Given the description of an element on the screen output the (x, y) to click on. 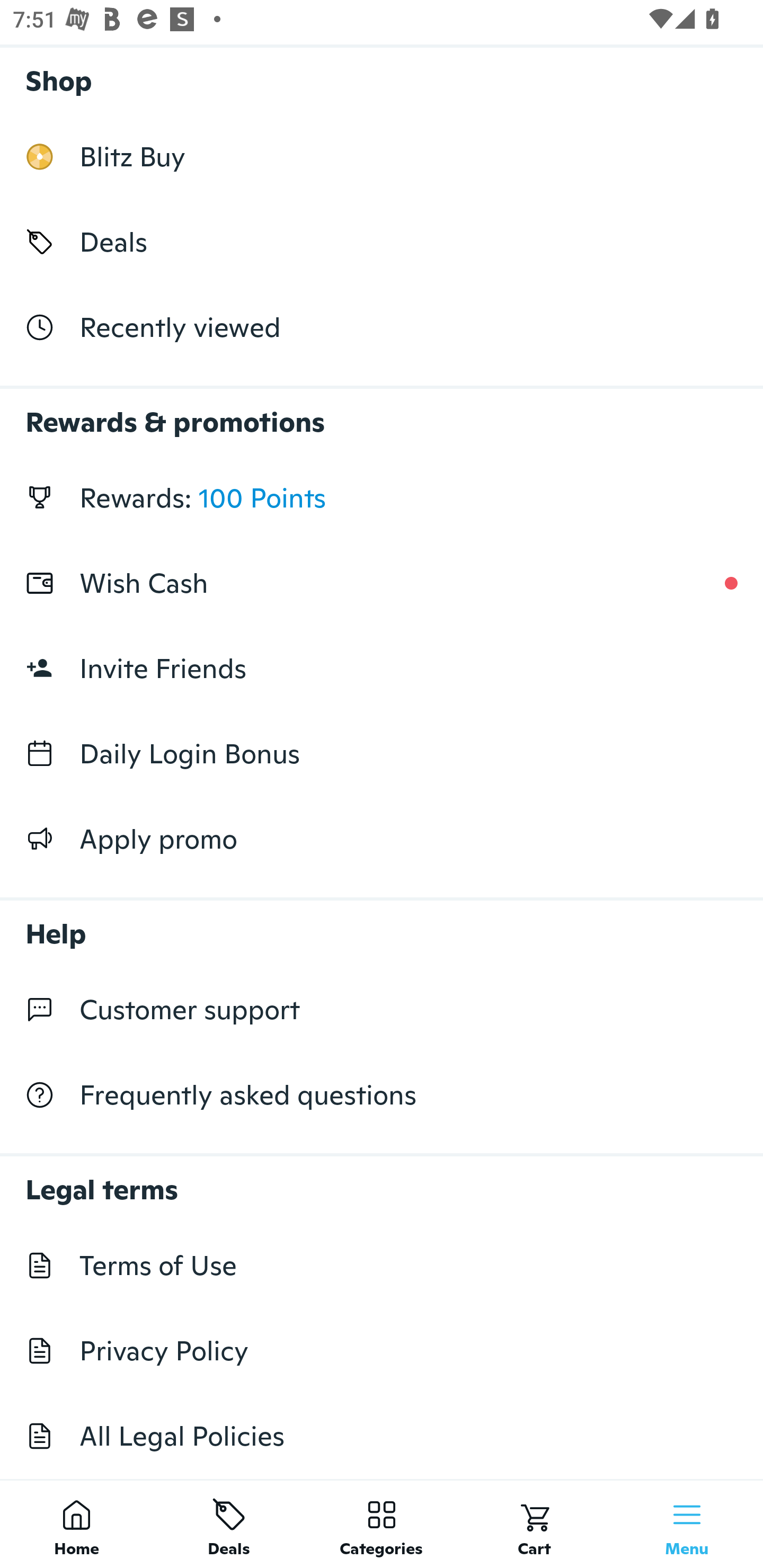
Shop (381, 75)
Blitz Buy (381, 156)
Deals (381, 242)
Recently viewed (381, 326)
Rewards & promotions (381, 413)
Rewards: 100 Points (381, 497)
Wish Cash (381, 582)
Invite Friends (381, 668)
Daily Login Bonus (381, 753)
Apply promo (381, 838)
Help (381, 924)
Customer support (381, 1009)
Frequently asked questions (381, 1095)
Legal terms (381, 1179)
Terms of Use (381, 1265)
Privacy Policy (381, 1350)
All Legal Policies (381, 1435)
Home (76, 1523)
Deals (228, 1523)
Categories (381, 1523)
Cart (533, 1523)
Menu (686, 1523)
